Given the description of an element on the screen output the (x, y) to click on. 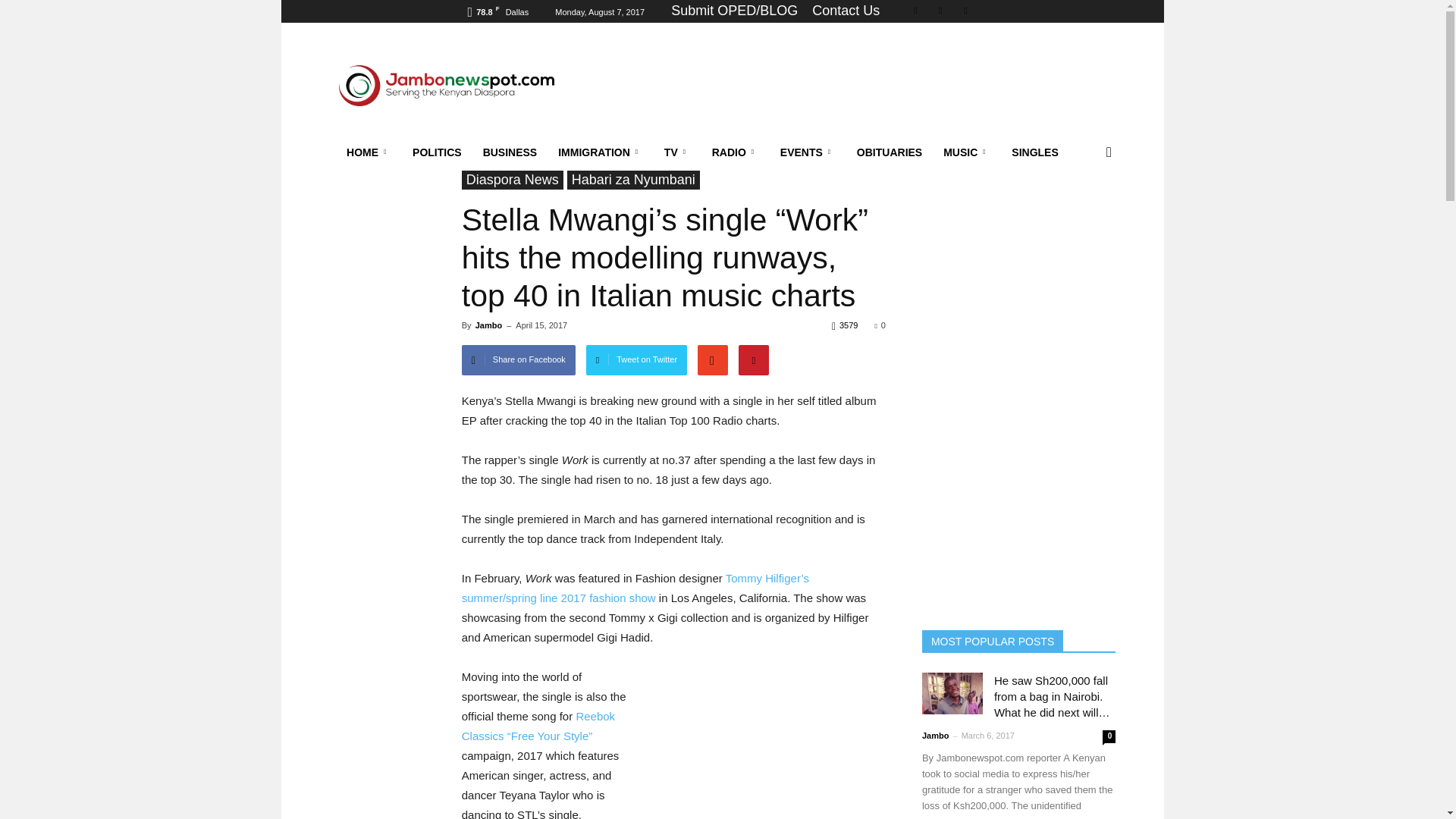
Facebook (915, 10)
Youtube (964, 10)
Twitter (940, 10)
